Given the description of an element on the screen output the (x, y) to click on. 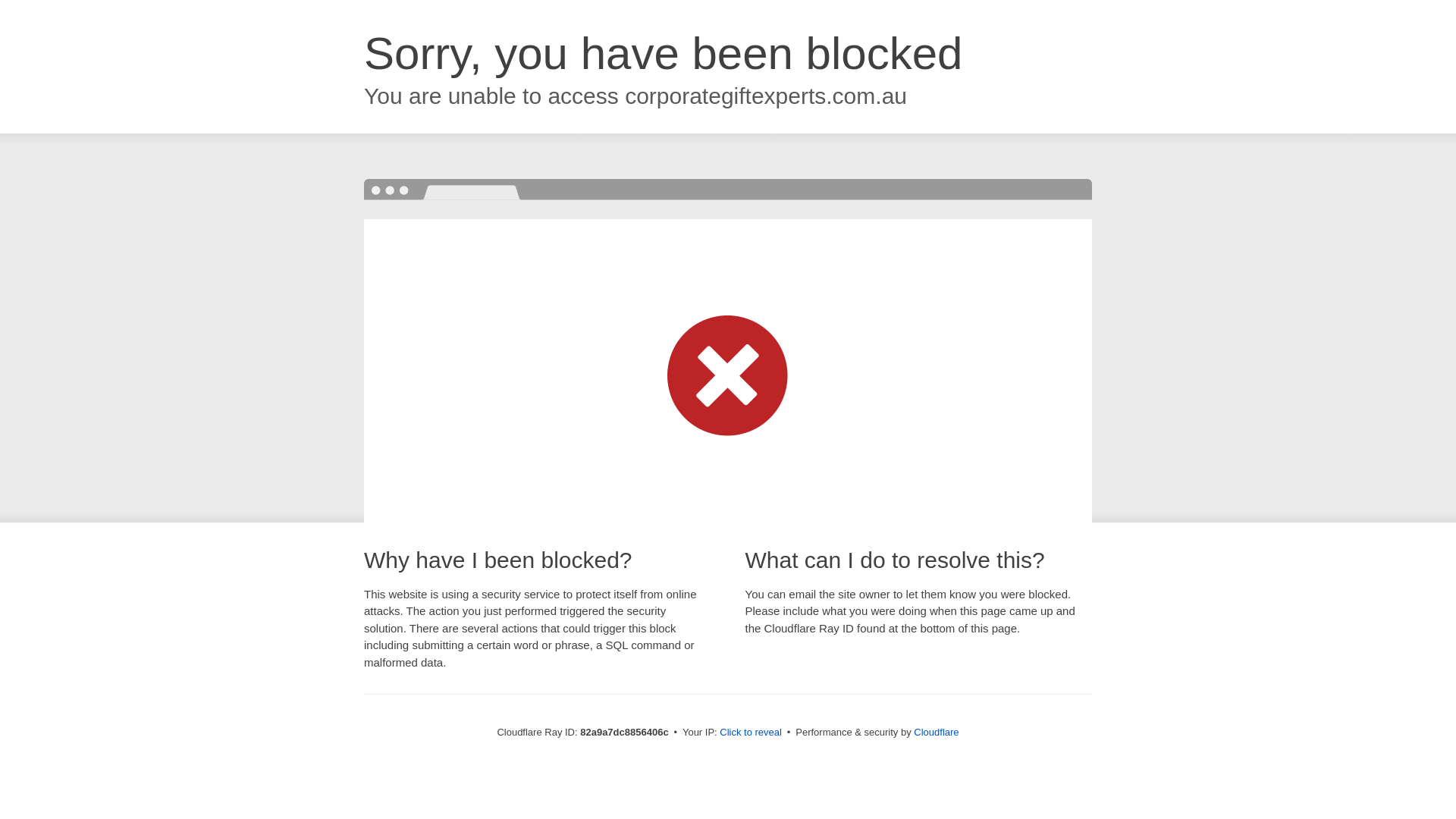
Click to reveal Element type: text (750, 732)
Cloudflare Element type: text (935, 731)
